Given the description of an element on the screen output the (x, y) to click on. 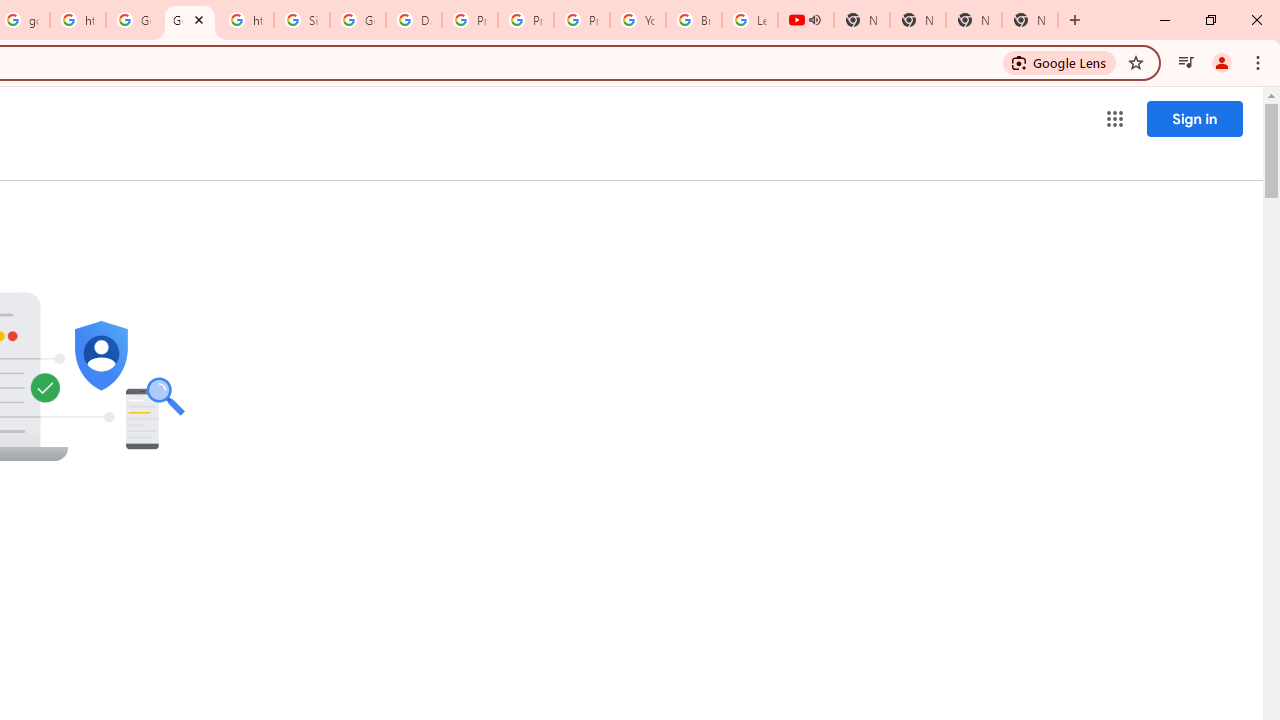
Privacy Help Center - Policies Help (469, 20)
Privacy Help Center - Policies Help (525, 20)
New Tab (1030, 20)
Search with Google Lens (1059, 62)
https://scholar.google.com/ (77, 20)
